Given the description of an element on the screen output the (x, y) to click on. 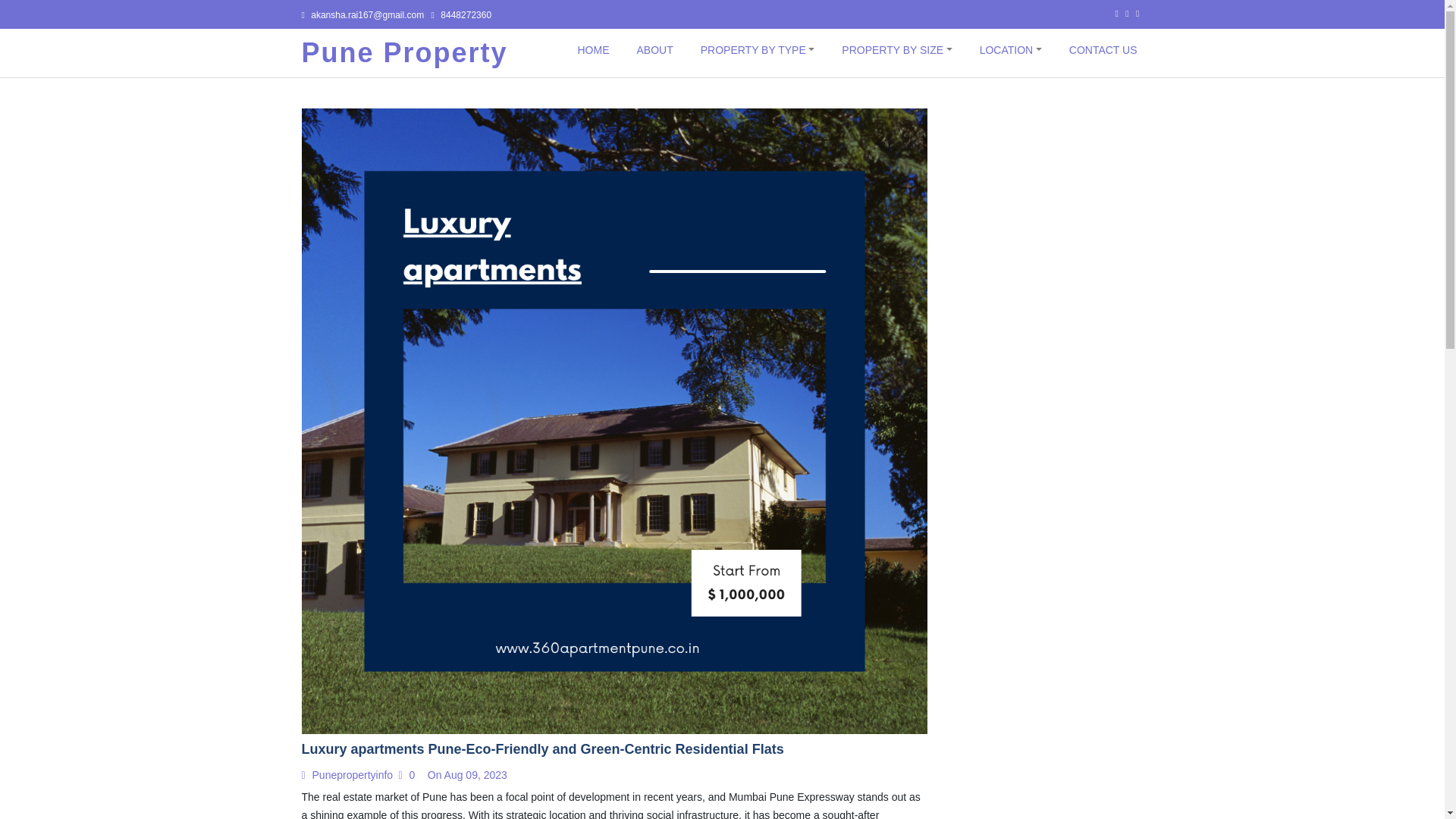
LOCATION (1011, 50)
Pune Property (404, 52)
ABOUT (654, 50)
Punepropertyinfo (350, 775)
PROPERTY BY TYPE (757, 50)
PROPERTY BY SIZE (896, 50)
CONTACT US (1102, 50)
HOME (592, 50)
